Given the description of an element on the screen output the (x, y) to click on. 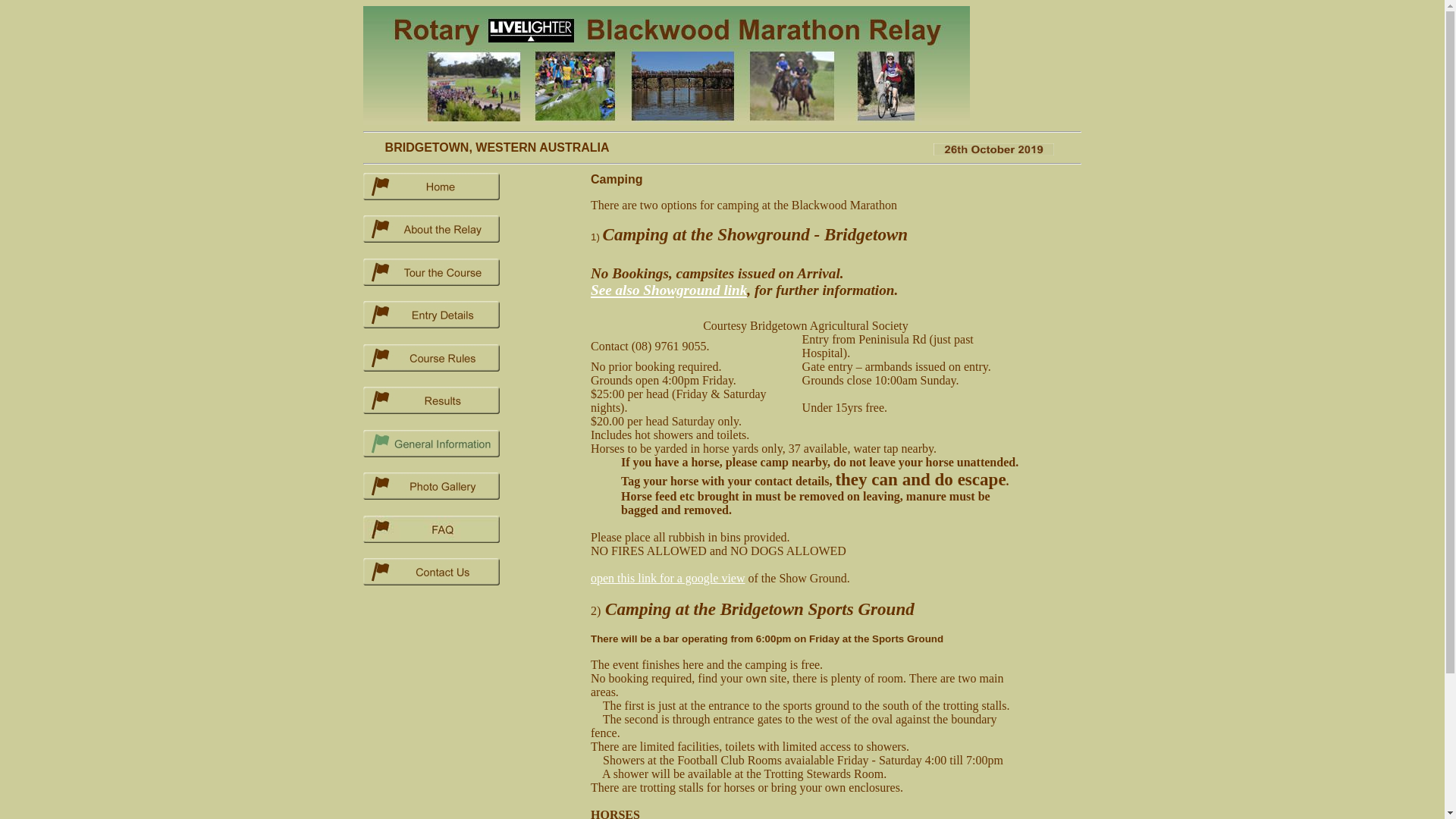
See also Showground link Element type: text (668, 288)
open this link for a google view Element type: text (667, 577)
